Given the description of an element on the screen output the (x, y) to click on. 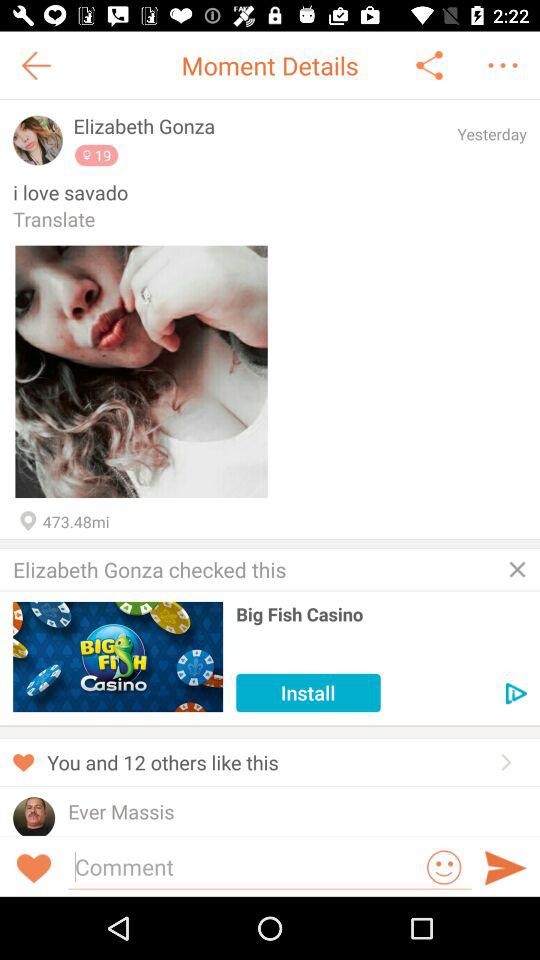
leave comment (244, 866)
